Given the description of an element on the screen output the (x, y) to click on. 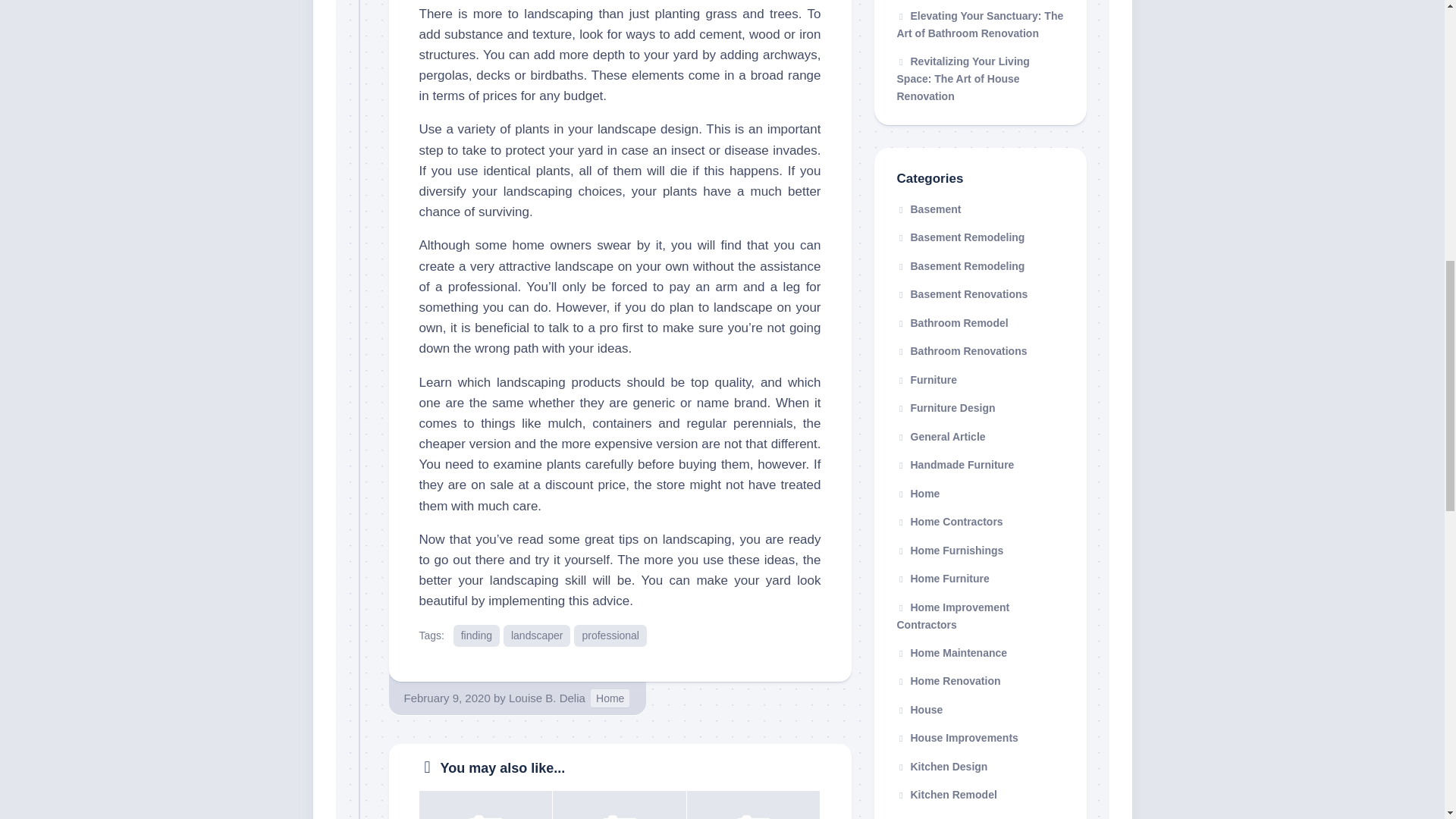
professional (609, 635)
Louise B. Delia (546, 697)
Posts by Louise B. Delia (546, 697)
finding (475, 635)
landscaper (536, 635)
